Given the description of an element on the screen output the (x, y) to click on. 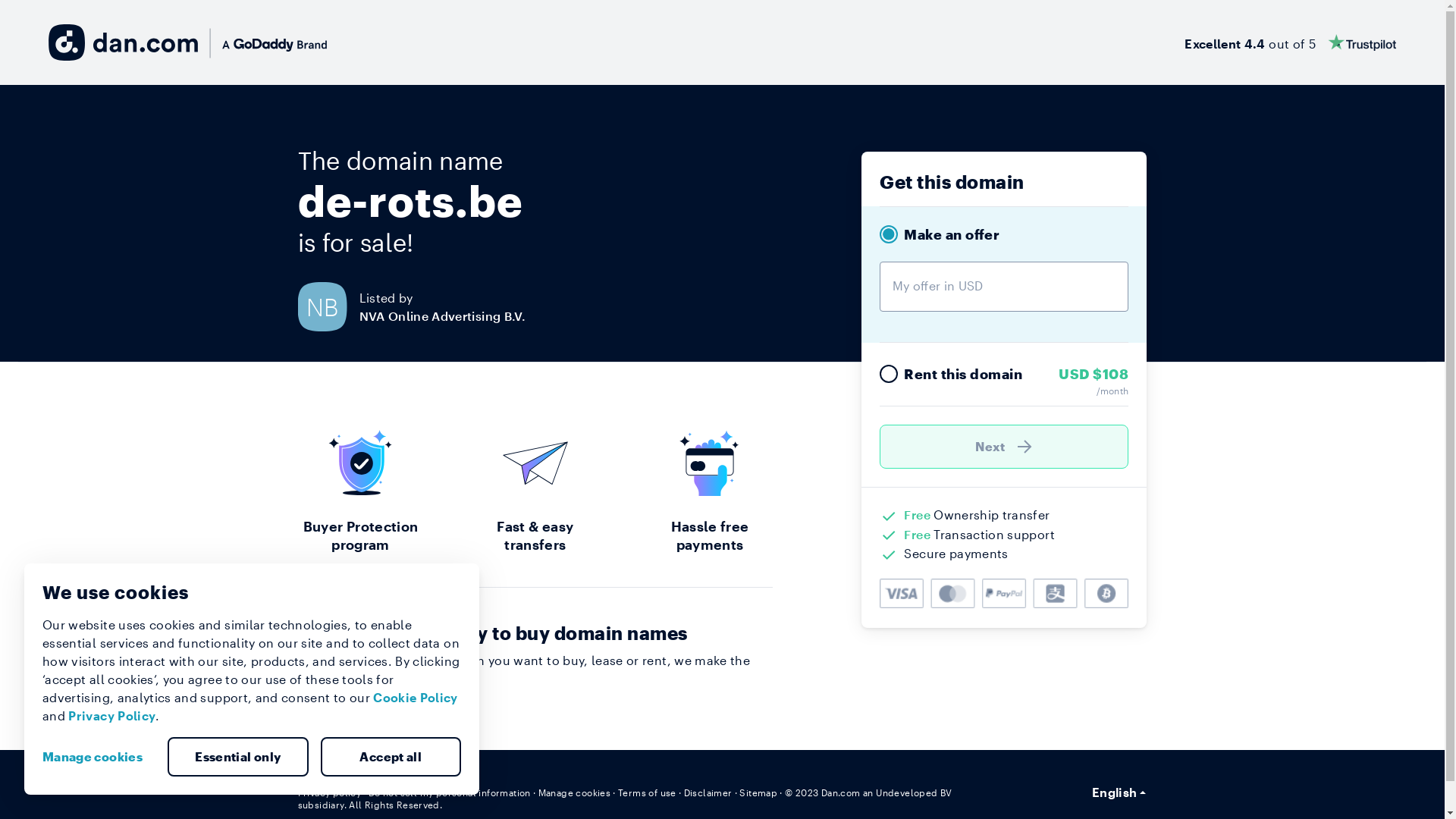
Manage cookies Element type: text (98, 756)
Accept all Element type: text (390, 756)
Terms of use Element type: text (647, 792)
English Element type: text (1119, 792)
Manage cookies Element type: text (574, 792)
Cookie Policy Element type: text (415, 697)
Disclaimer Element type: text (708, 792)
Essential only Element type: text (237, 756)
Next
) Element type: text (1003, 446)
Privacy policy Element type: text (328, 792)
Excellent 4.4 out of 5 Element type: text (1290, 42)
Sitemap Element type: text (758, 792)
Do not sell my personal information Element type: text (449, 792)
Privacy Policy Element type: text (111, 715)
